Given the description of an element on the screen output the (x, y) to click on. 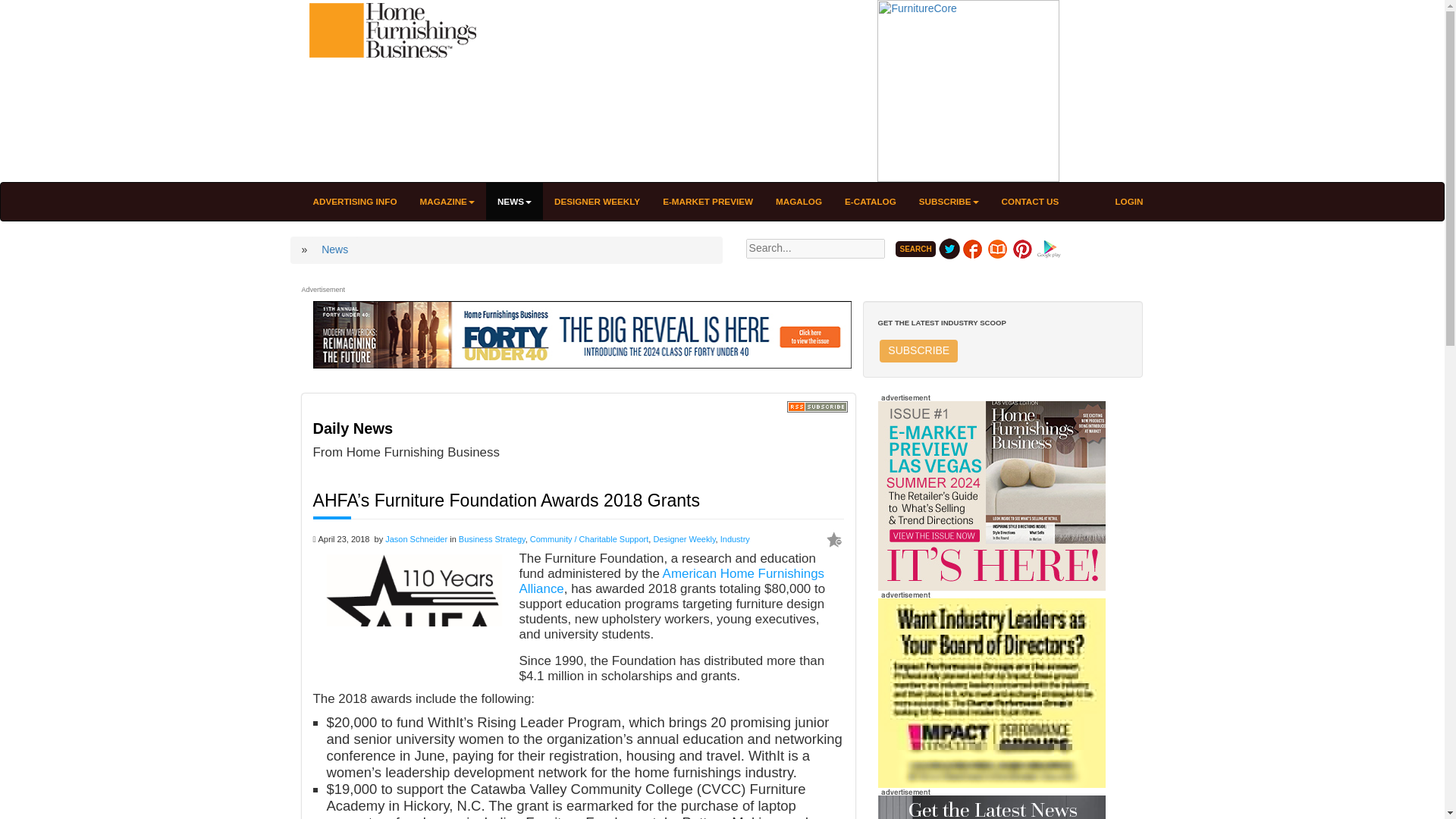
SUBSCRIBE (948, 201)
Clear search text (882, 269)
FurnitureCore (968, 90)
Performance Groups (991, 692)
LOGIN (1128, 201)
Performance Groups (991, 692)
SUBSCRIBE (918, 350)
ADVERTISING INFO (355, 201)
You must be logged in to bookmark (834, 539)
Jason Schneider (415, 538)
